Given the description of an element on the screen output the (x, y) to click on. 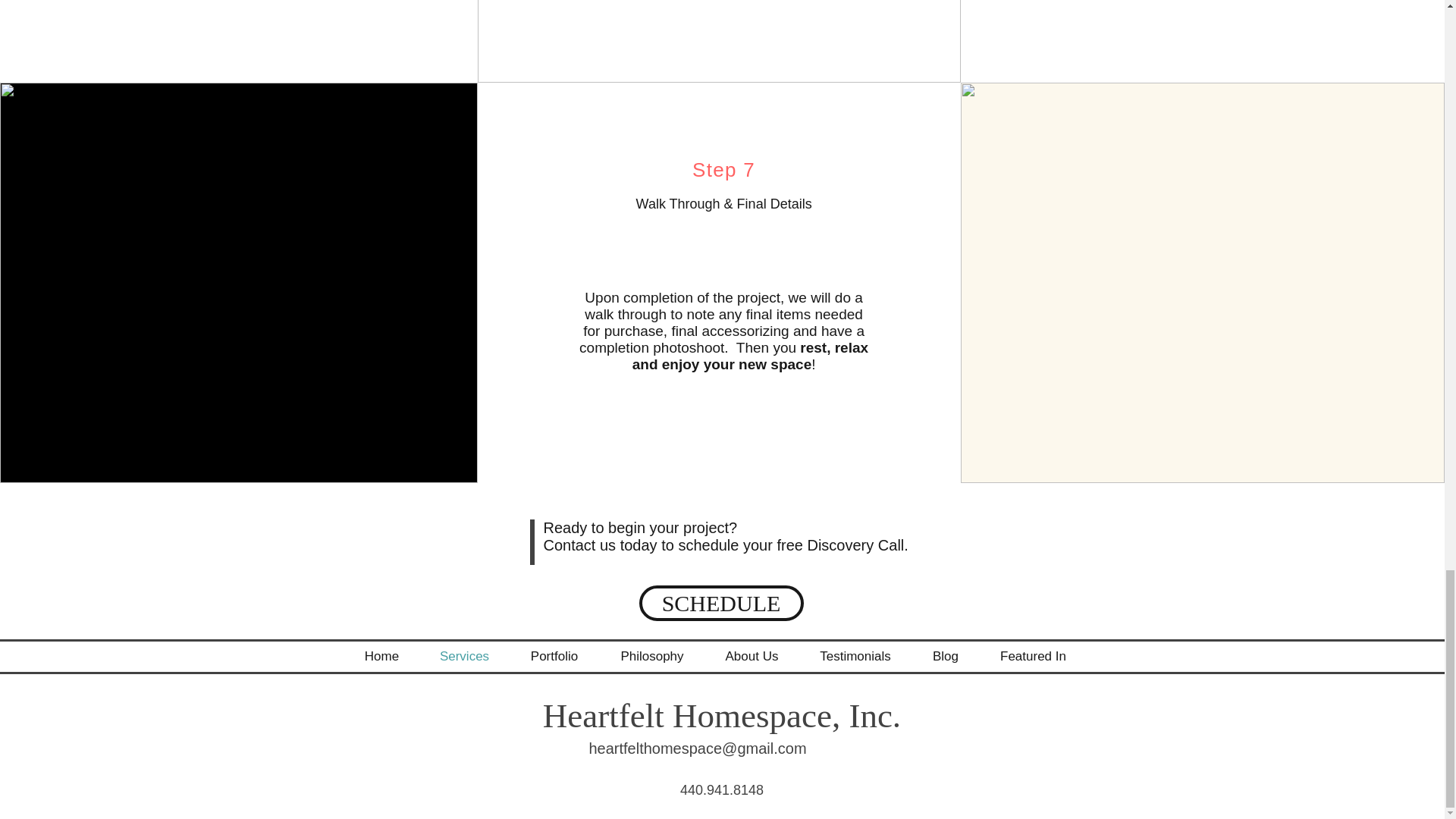
Featured In (1032, 656)
Philosophy (651, 656)
Blog (945, 656)
Portfolio (553, 656)
Home (381, 656)
SCHEDULE (721, 602)
About Us (751, 656)
Testimonials (855, 656)
Services (464, 656)
